Given the description of an element on the screen output the (x, y) to click on. 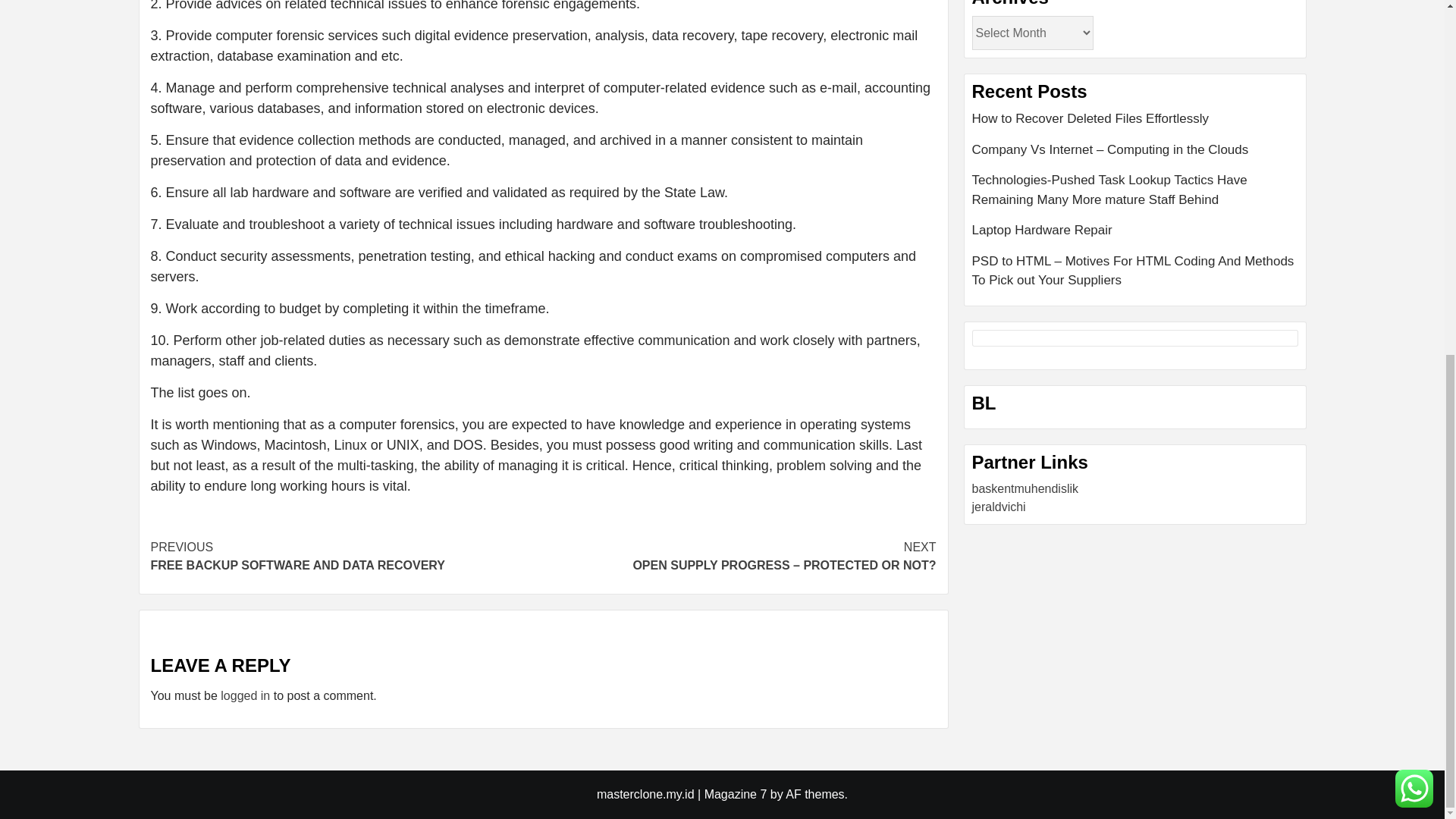
logged in (245, 695)
Laptop Hardware Repair (1135, 235)
How to Recover Deleted Files Effortlessly (1135, 124)
